Given the description of an element on the screen output the (x, y) to click on. 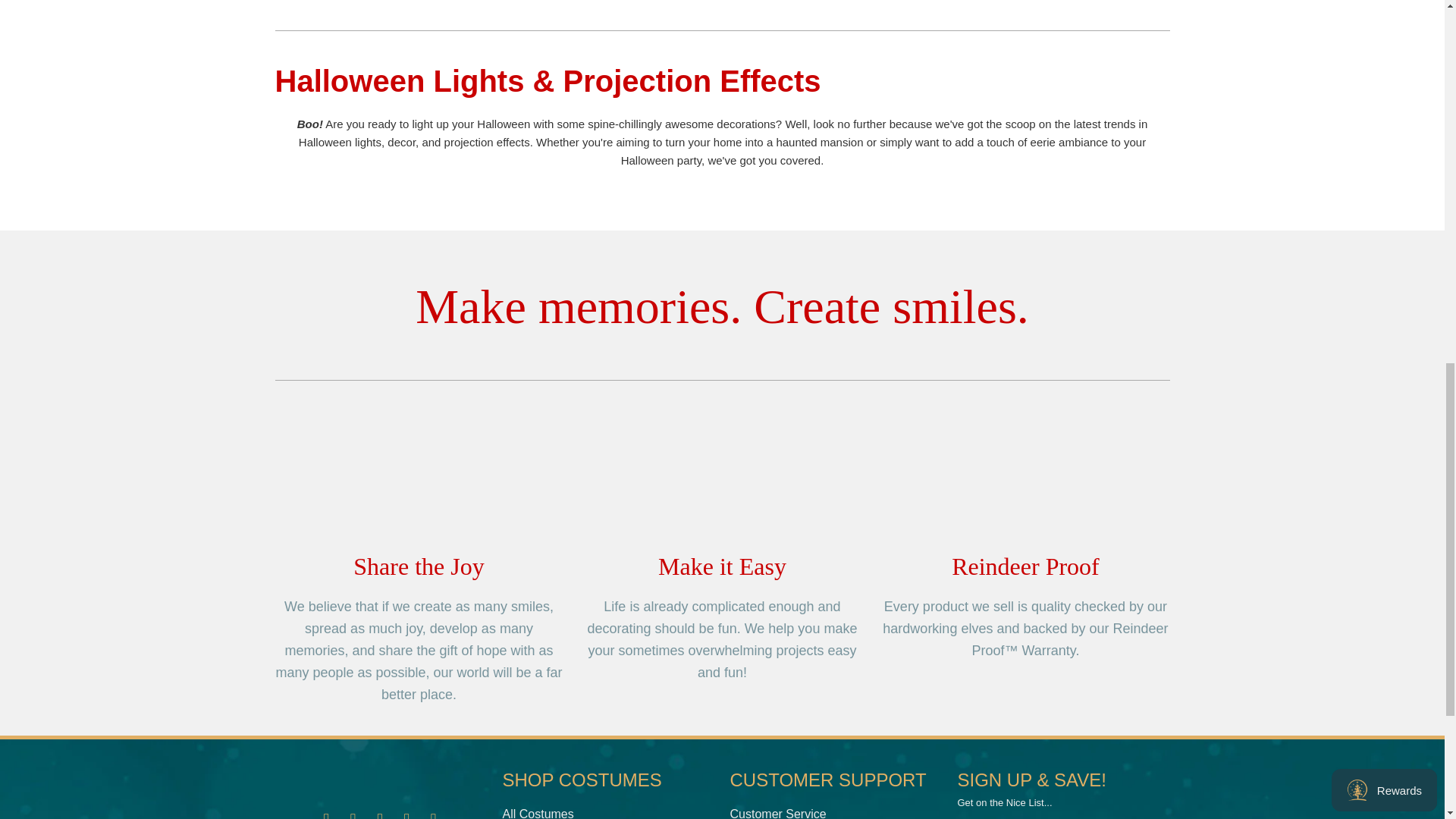
The Christmas Light Emporium on Facebook (326, 814)
The Christmas Light Emporium on Instagram (353, 814)
The Christmas Light Emporium on Twitter (407, 814)
The Christmas Light Emporium on Pinterest (380, 814)
